Given the description of an element on the screen output the (x, y) to click on. 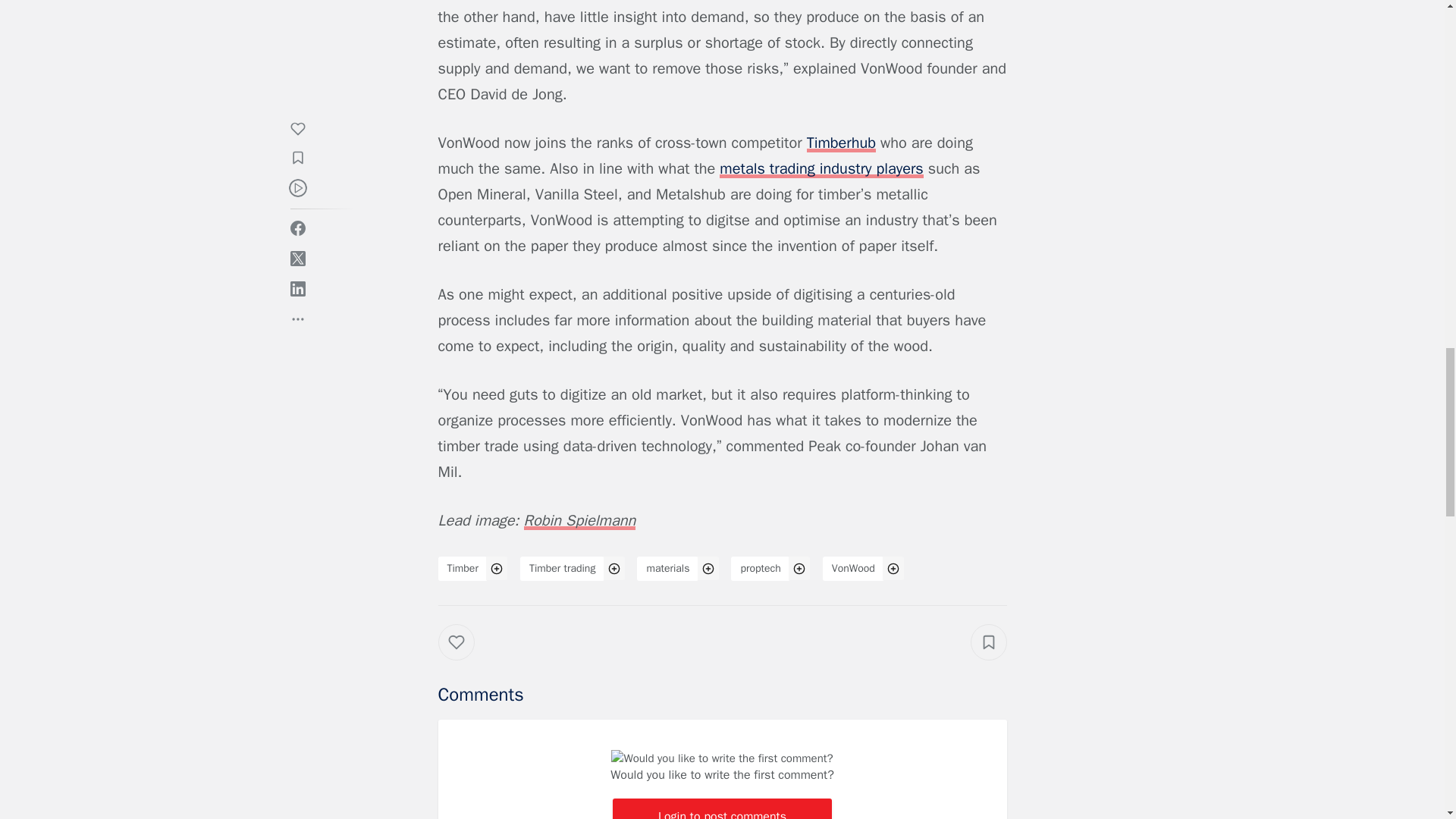
proptech (759, 568)
Timber (462, 568)
Like (467, 656)
Add to collection (989, 642)
materials (667, 568)
Timber trading (562, 568)
VonWood (852, 568)
